Given the description of an element on the screen output the (x, y) to click on. 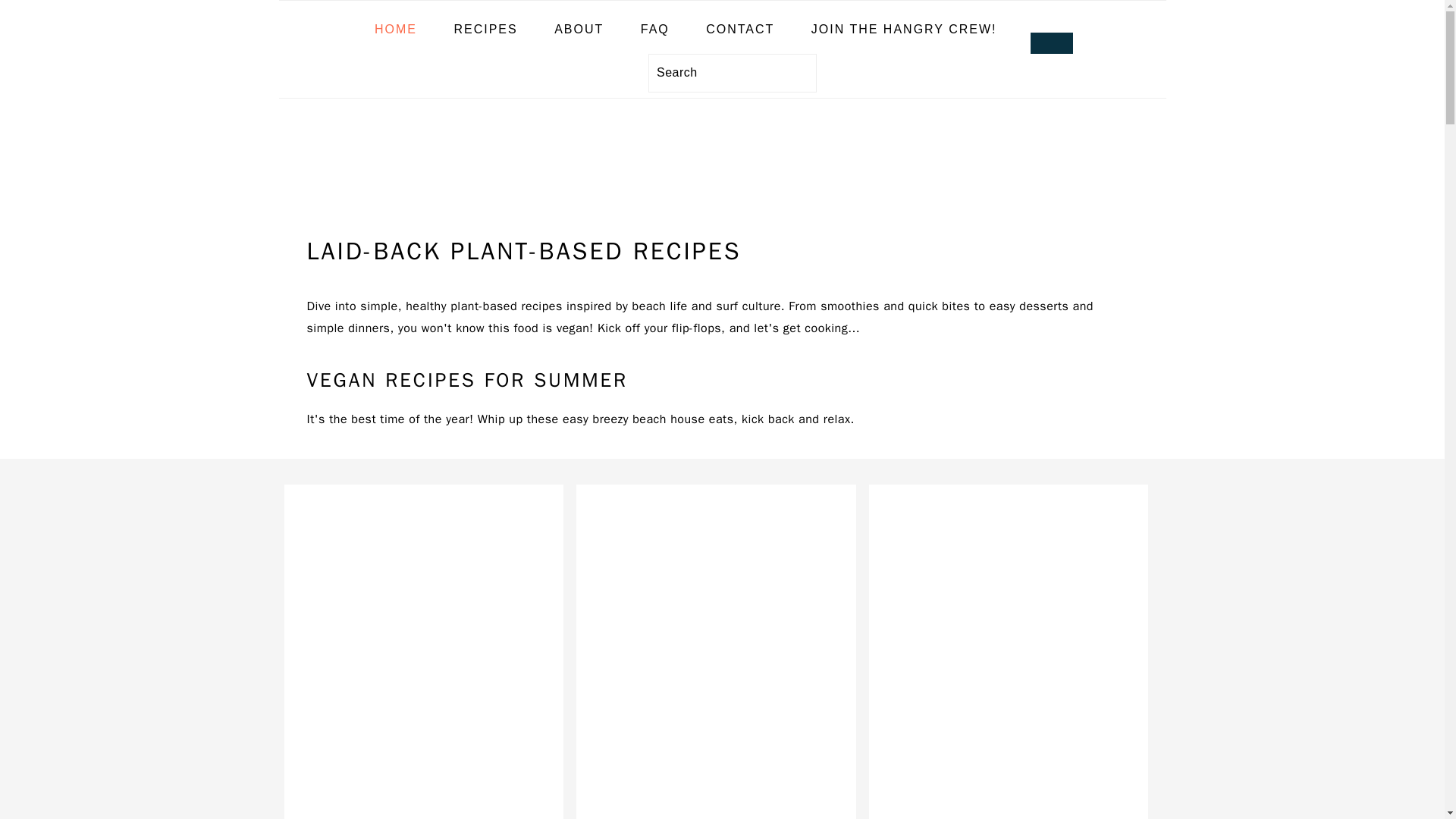
ABOUT (579, 29)
The Hangry Chickpea (721, 213)
HOME (395, 29)
FAQ (654, 29)
CONTACT (740, 29)
RECIPES (485, 29)
JOIN THE HANGRY CREW! (903, 29)
